Given the description of an element on the screen output the (x, y) to click on. 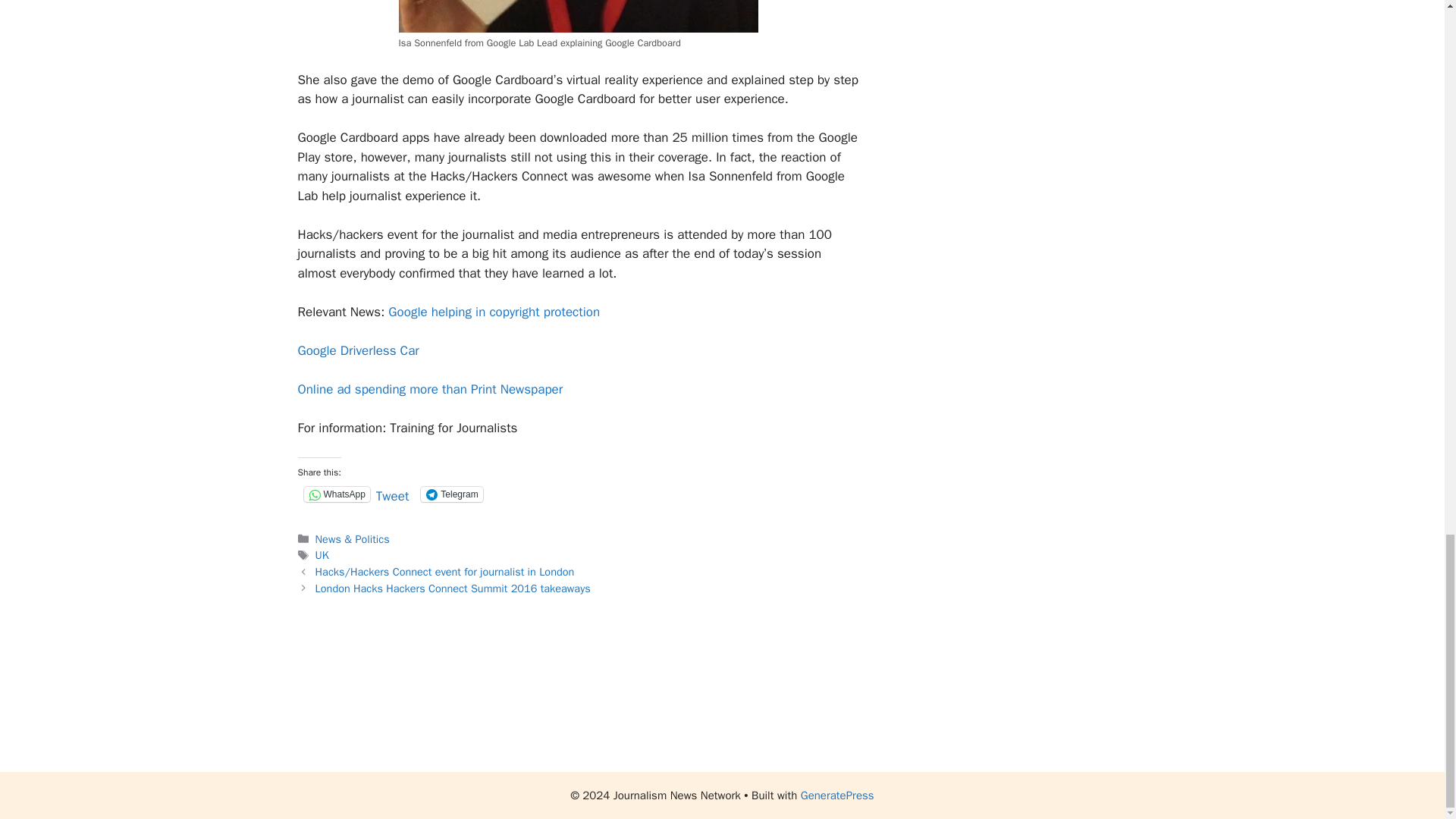
Google Driverless Car (358, 350)
Click to share on WhatsApp (335, 494)
Google helping in copyright protection (493, 311)
Click to share on Telegram (450, 494)
Telegram (450, 494)
UK (322, 554)
Tweet (392, 493)
Online ad spending more than Print Newspaper (429, 389)
London Hacks Hackers Connect Summit 2016 takeaways (453, 588)
WhatsApp (335, 494)
